Given the description of an element on the screen output the (x, y) to click on. 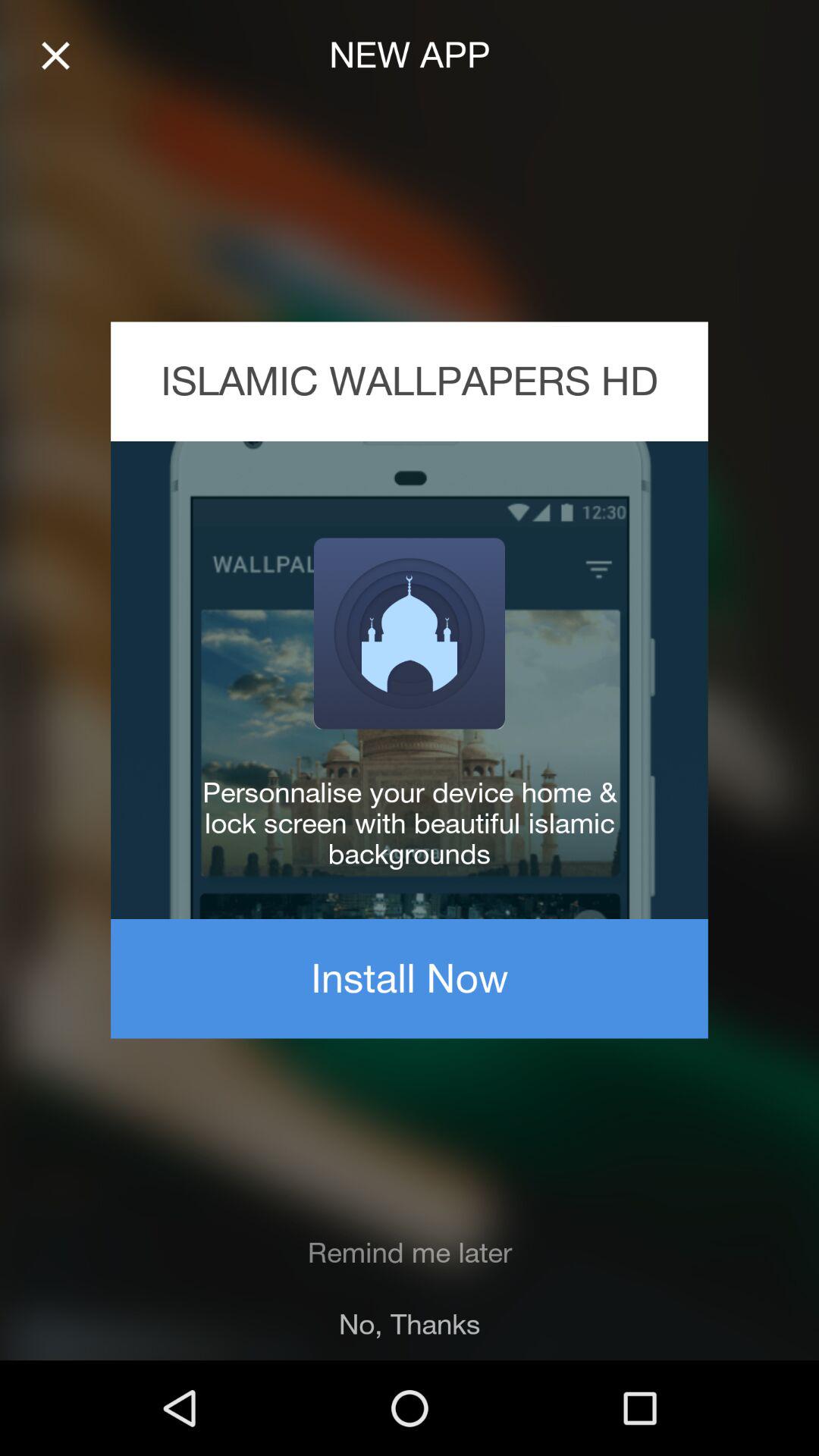
close tab (55, 55)
